Given the description of an element on the screen output the (x, y) to click on. 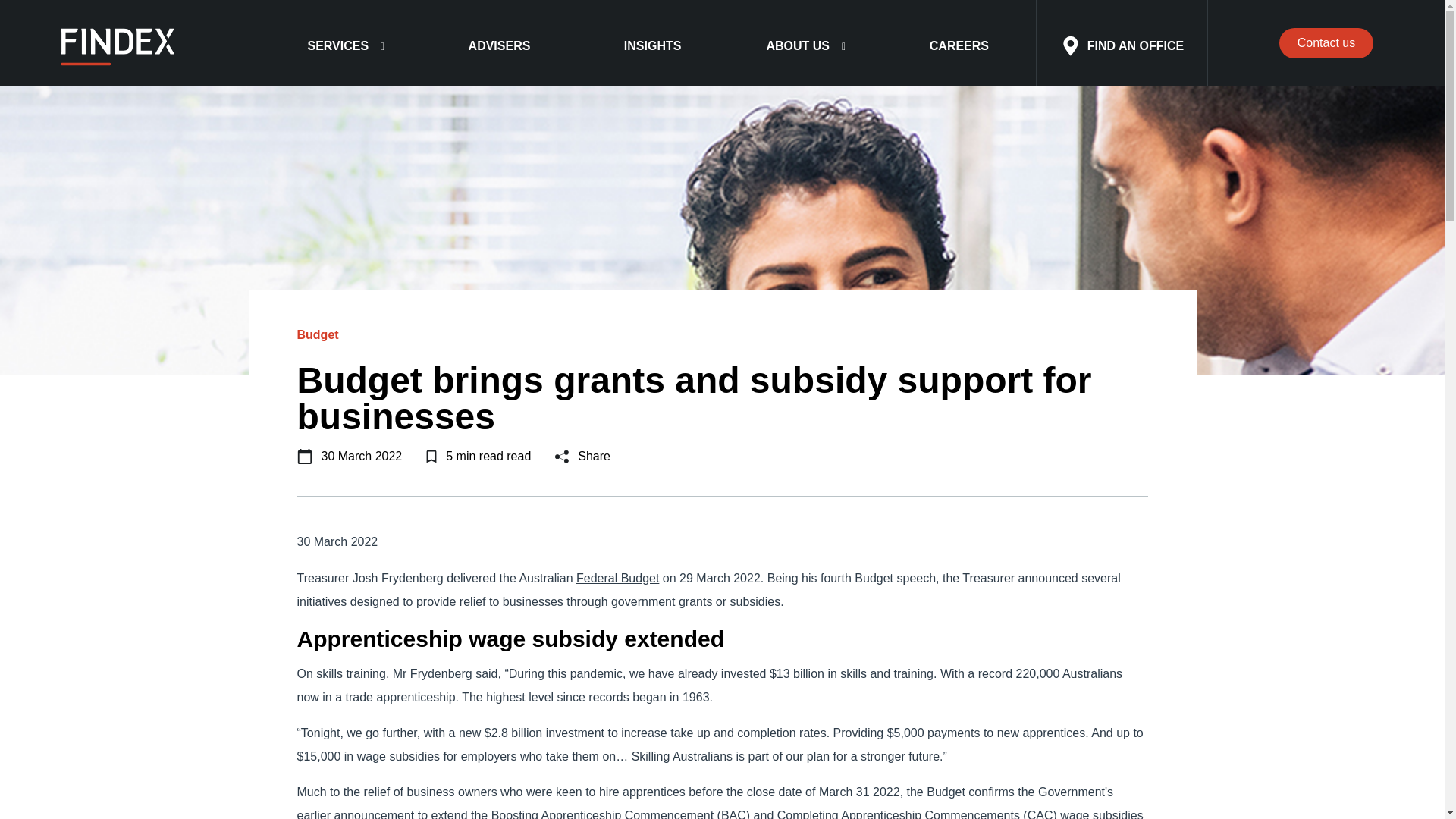
Contact us (1326, 42)
ABOUT US (805, 47)
CAREERS (959, 45)
INSIGHTS (652, 45)
ADVISERS (499, 45)
SERVICES (345, 47)
FIND AN OFFICE (1121, 43)
